Given the description of an element on the screen output the (x, y) to click on. 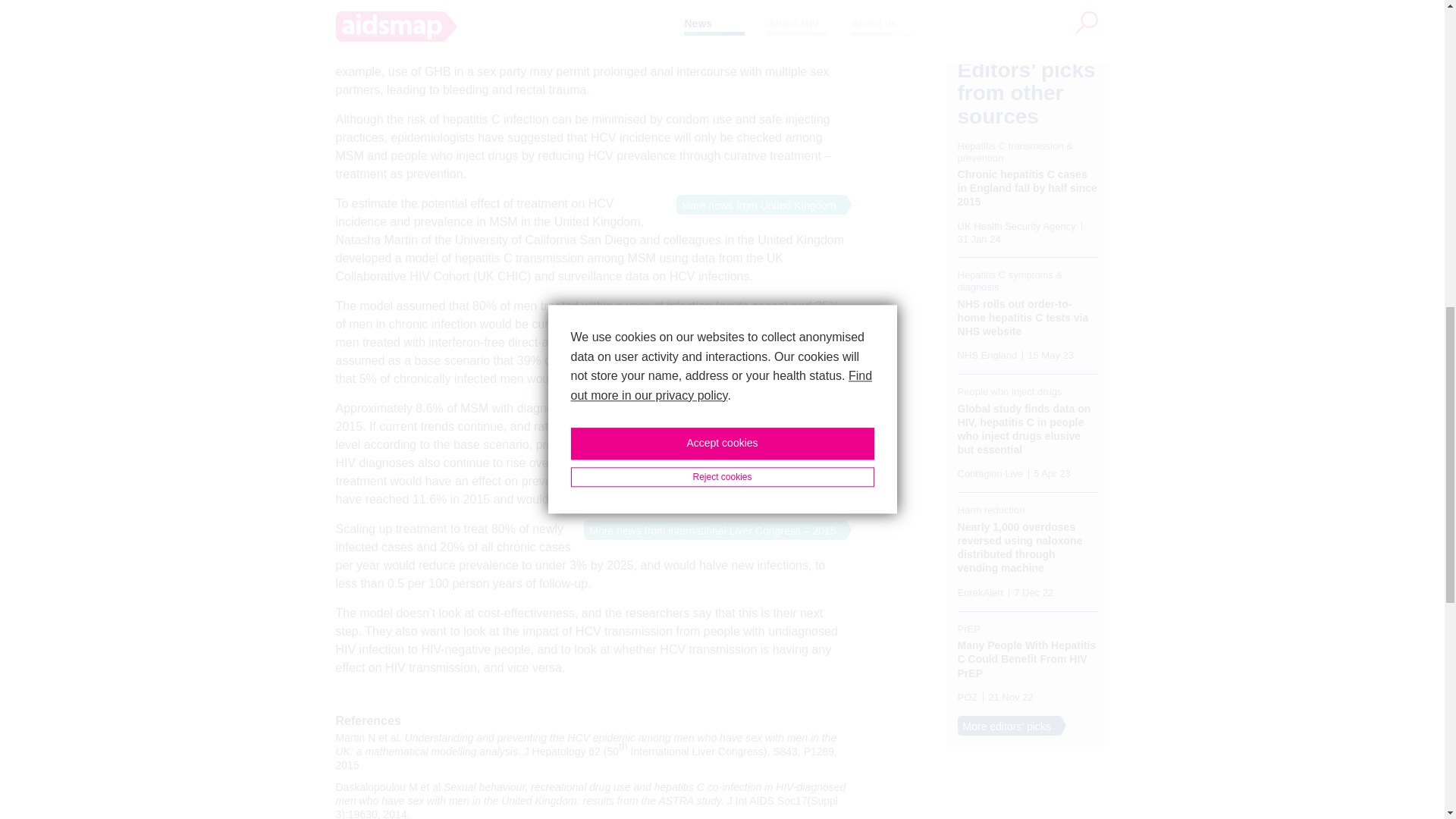
More news from United Kingdom (756, 204)
